Given the description of an element on the screen output the (x, y) to click on. 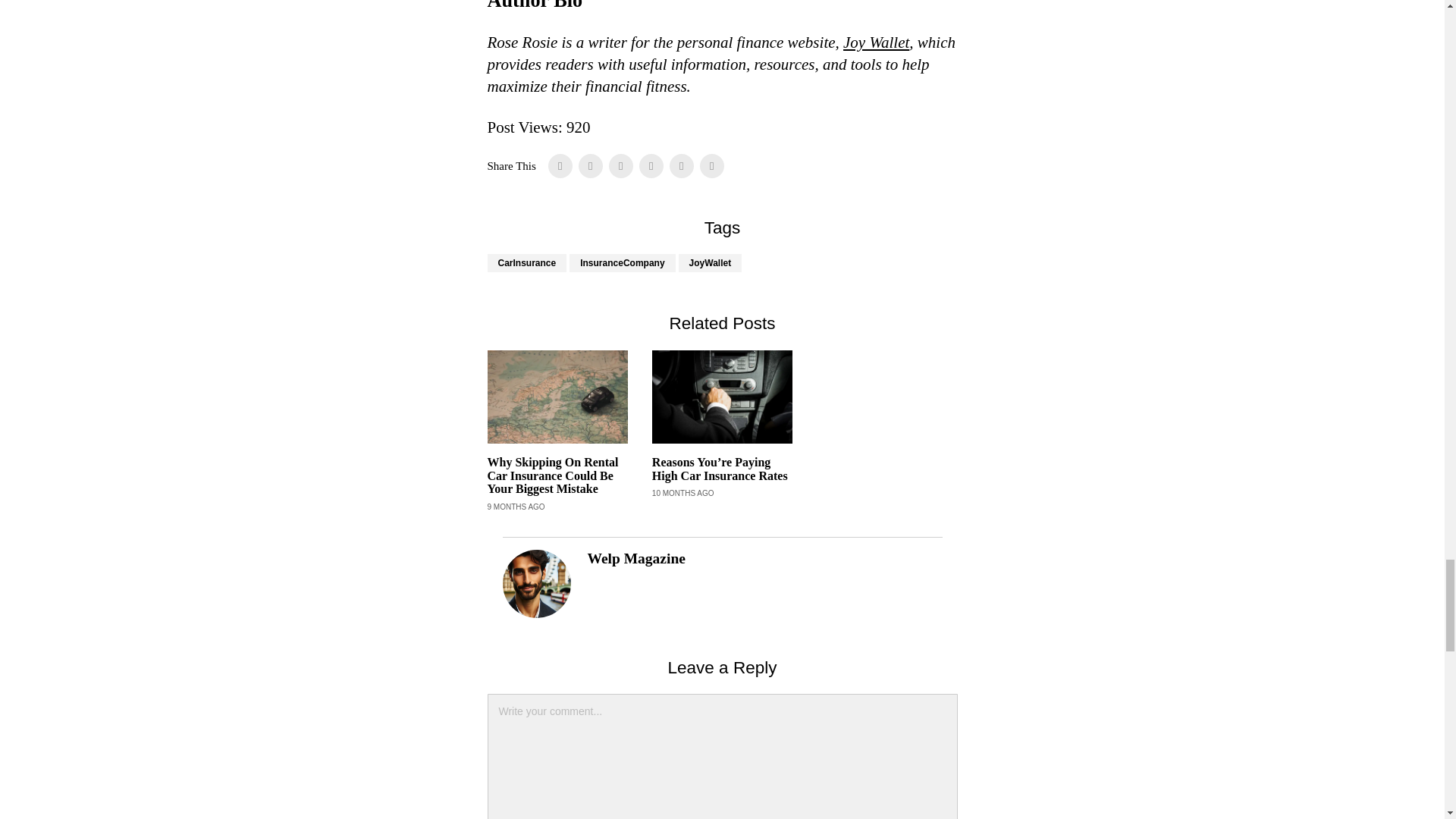
25 Sep, 2023 11:18:50 (683, 493)
28 Oct, 2023 04:05:14 (515, 507)
